Given the description of an element on the screen output the (x, y) to click on. 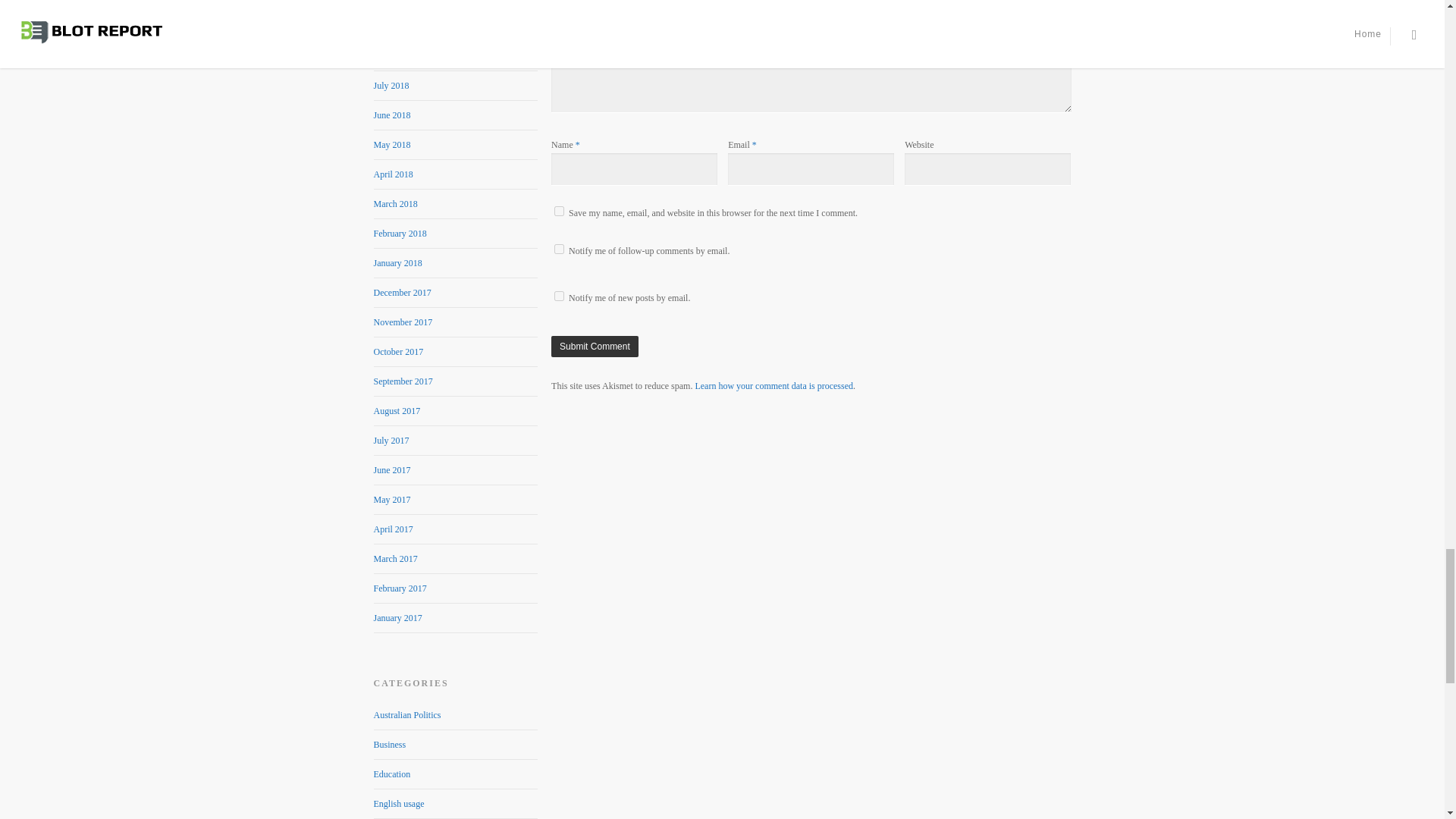
subscribe (559, 296)
subscribe (559, 248)
Submit Comment (595, 346)
yes (559, 211)
